Given the description of an element on the screen output the (x, y) to click on. 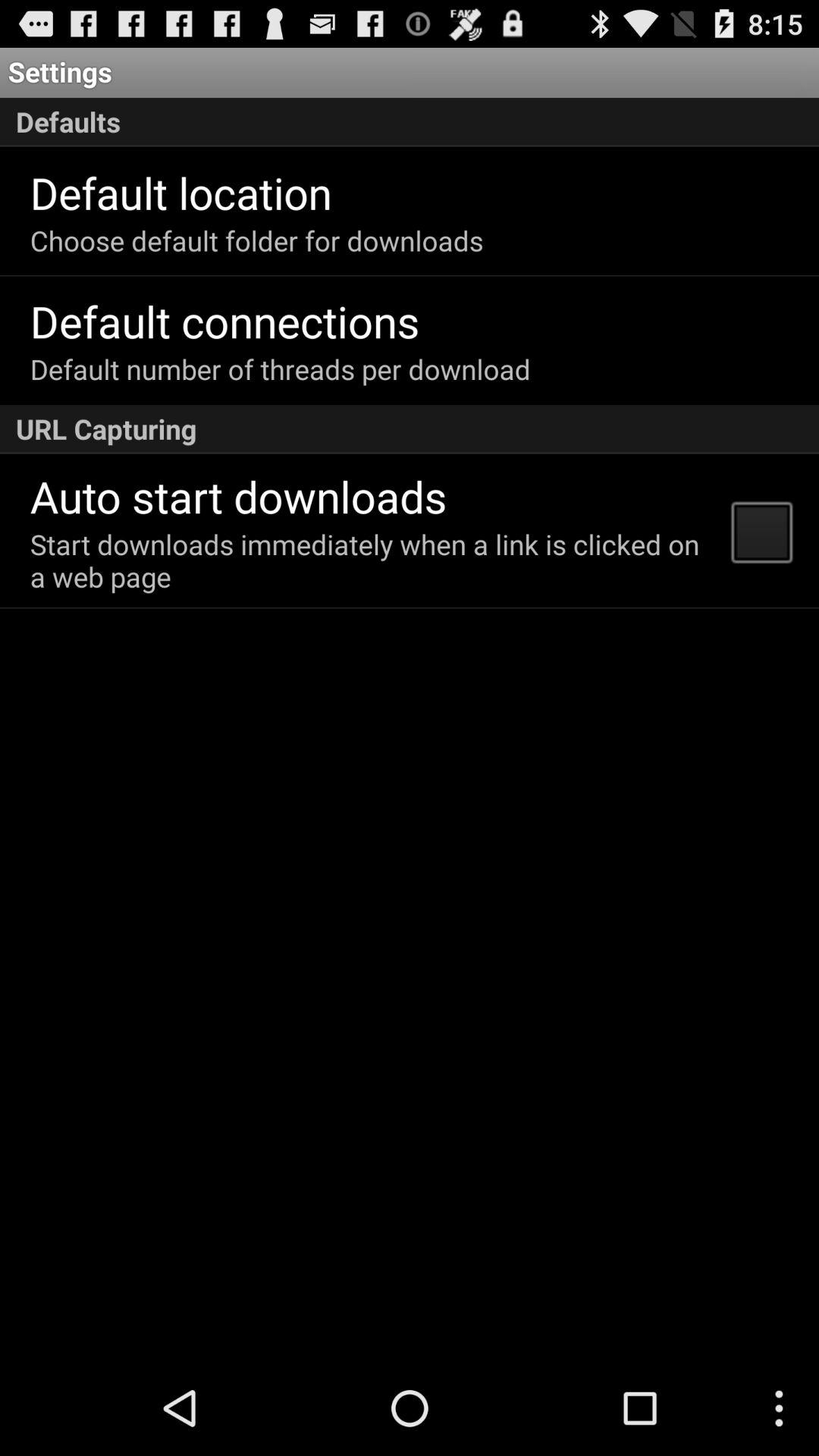
press the icon below default number of app (409, 428)
